Given the description of an element on the screen output the (x, y) to click on. 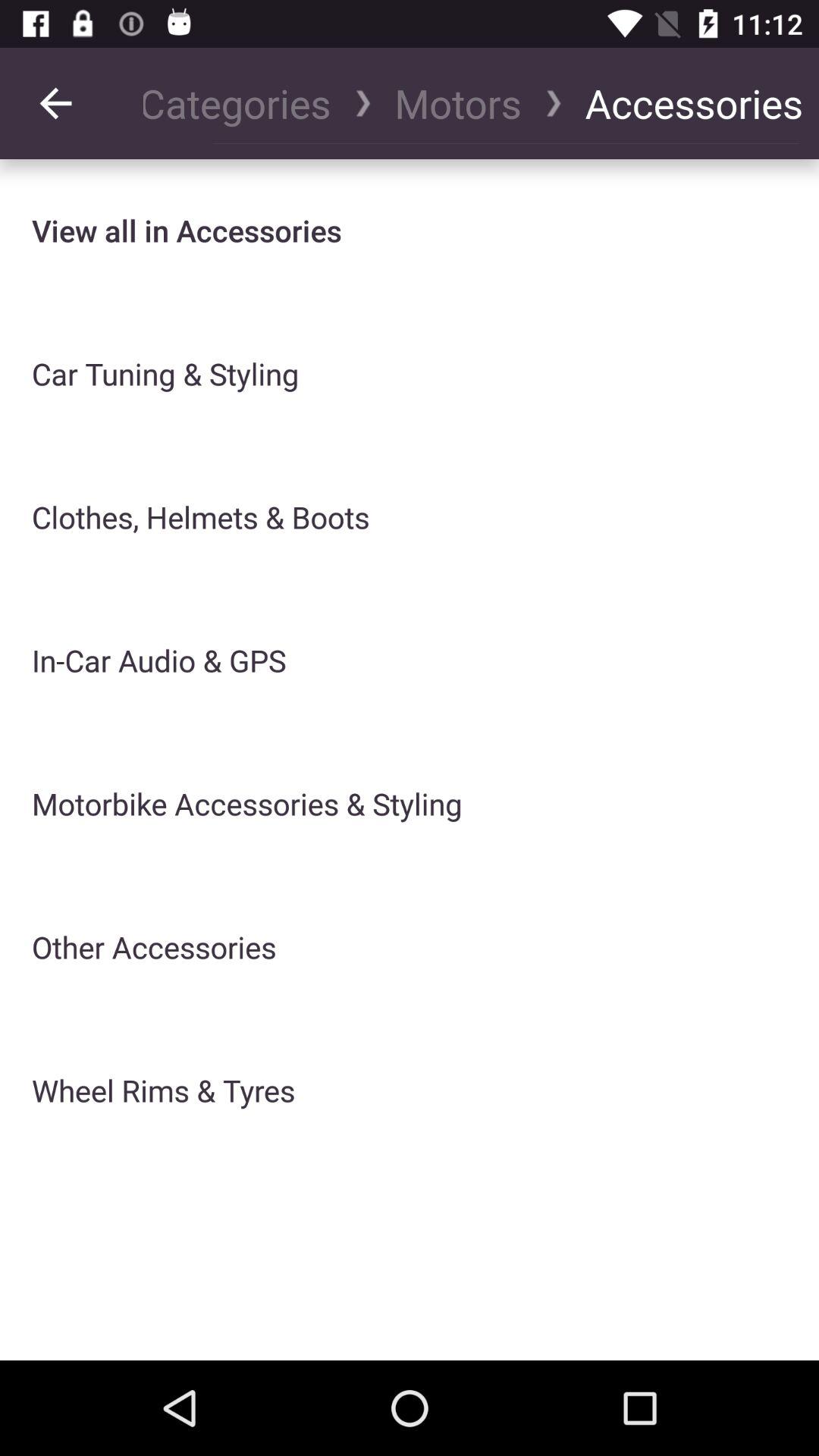
choose the icon below in car audio icon (246, 803)
